Given the description of an element on the screen output the (x, y) to click on. 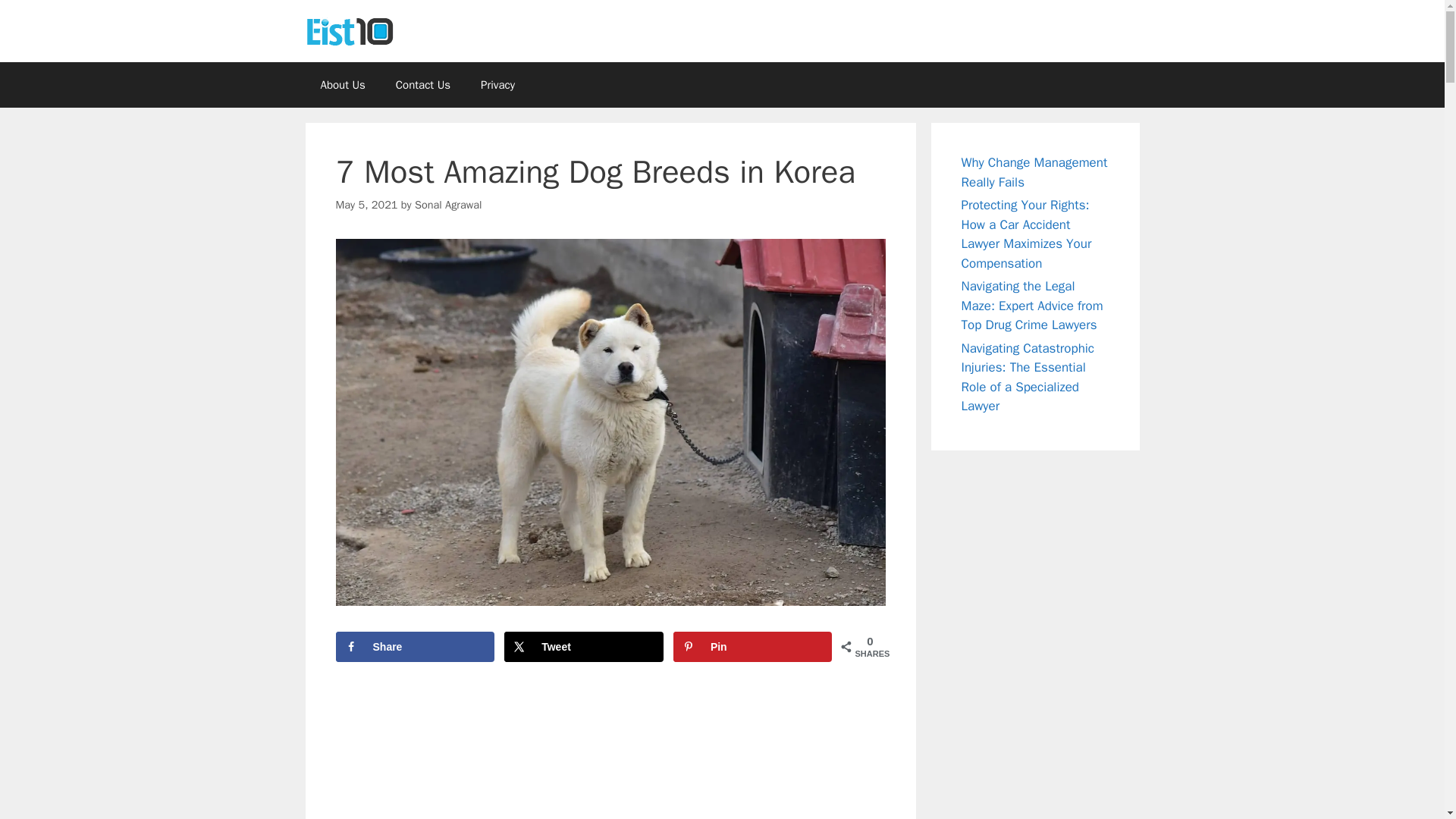
Save to Pinterest (752, 646)
Contact Us (422, 84)
Advertisement (609, 751)
Sonal Agrawal (447, 204)
Pin (752, 646)
View all posts by Sonal Agrawal (447, 204)
Tweet (583, 646)
Share (414, 646)
